Given the description of an element on the screen output the (x, y) to click on. 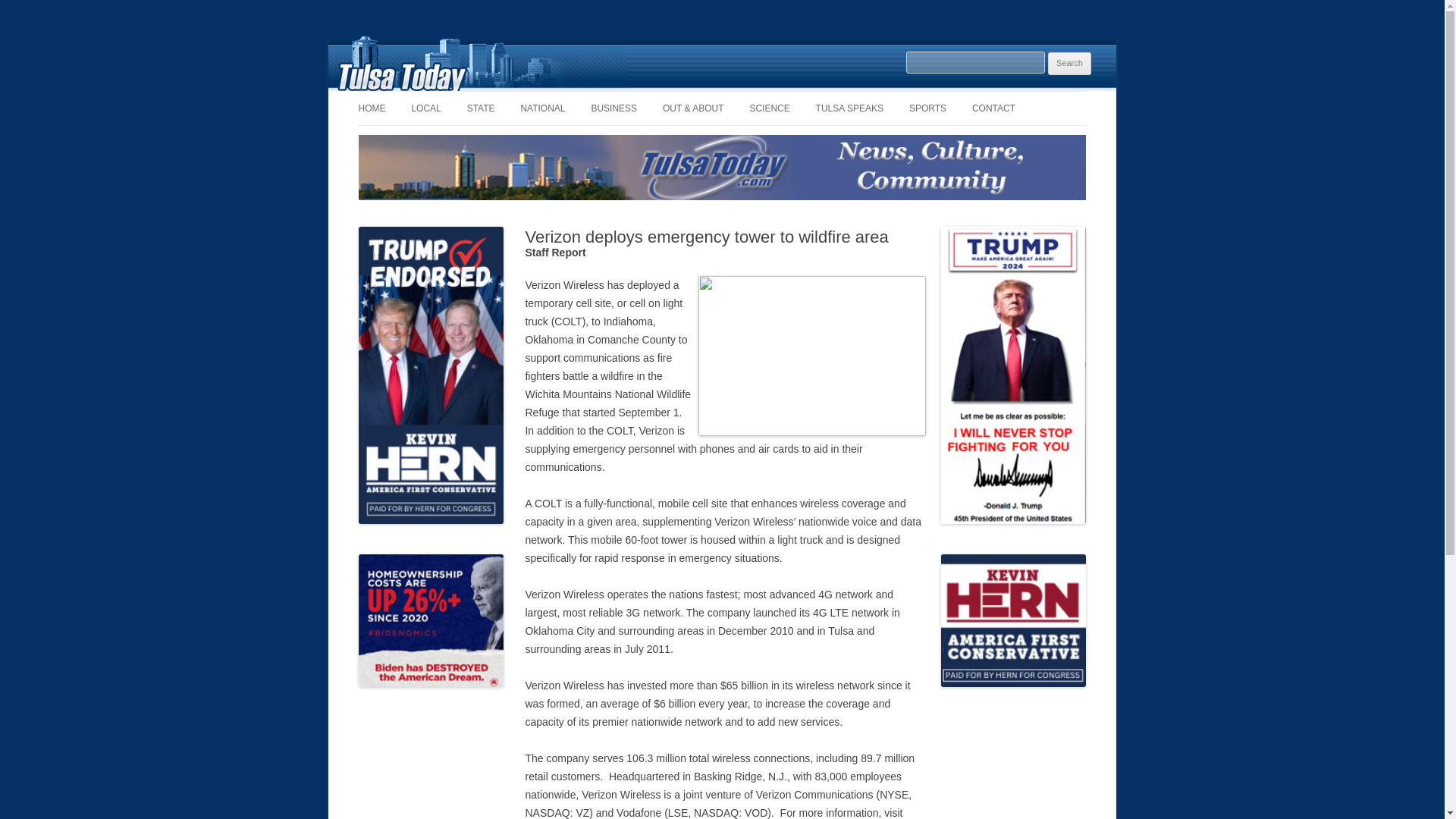
SCIENCE (769, 108)
Search (1069, 63)
BUSINESS (614, 108)
NATIONAL (541, 108)
Search (1069, 63)
Skip to content (757, 95)
Skip to content (757, 95)
TULSA SPEAKS (849, 108)
CONTACT (993, 108)
SPORTS (927, 108)
